Given the description of an element on the screen output the (x, y) to click on. 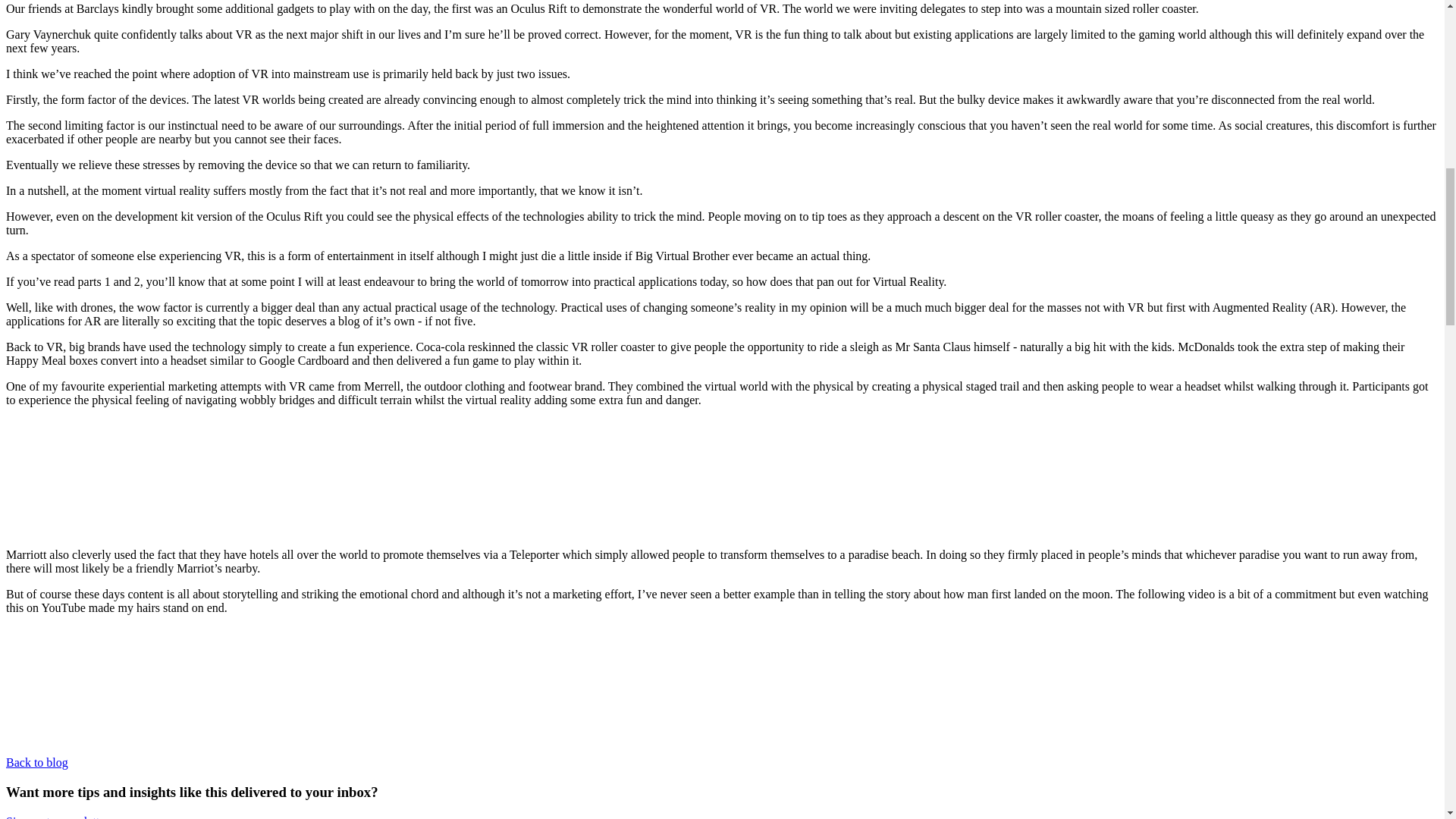
Sign up to newsletter (57, 816)
Sign up to newsletter (57, 816)
Back to blog (36, 762)
